Given the description of an element on the screen output the (x, y) to click on. 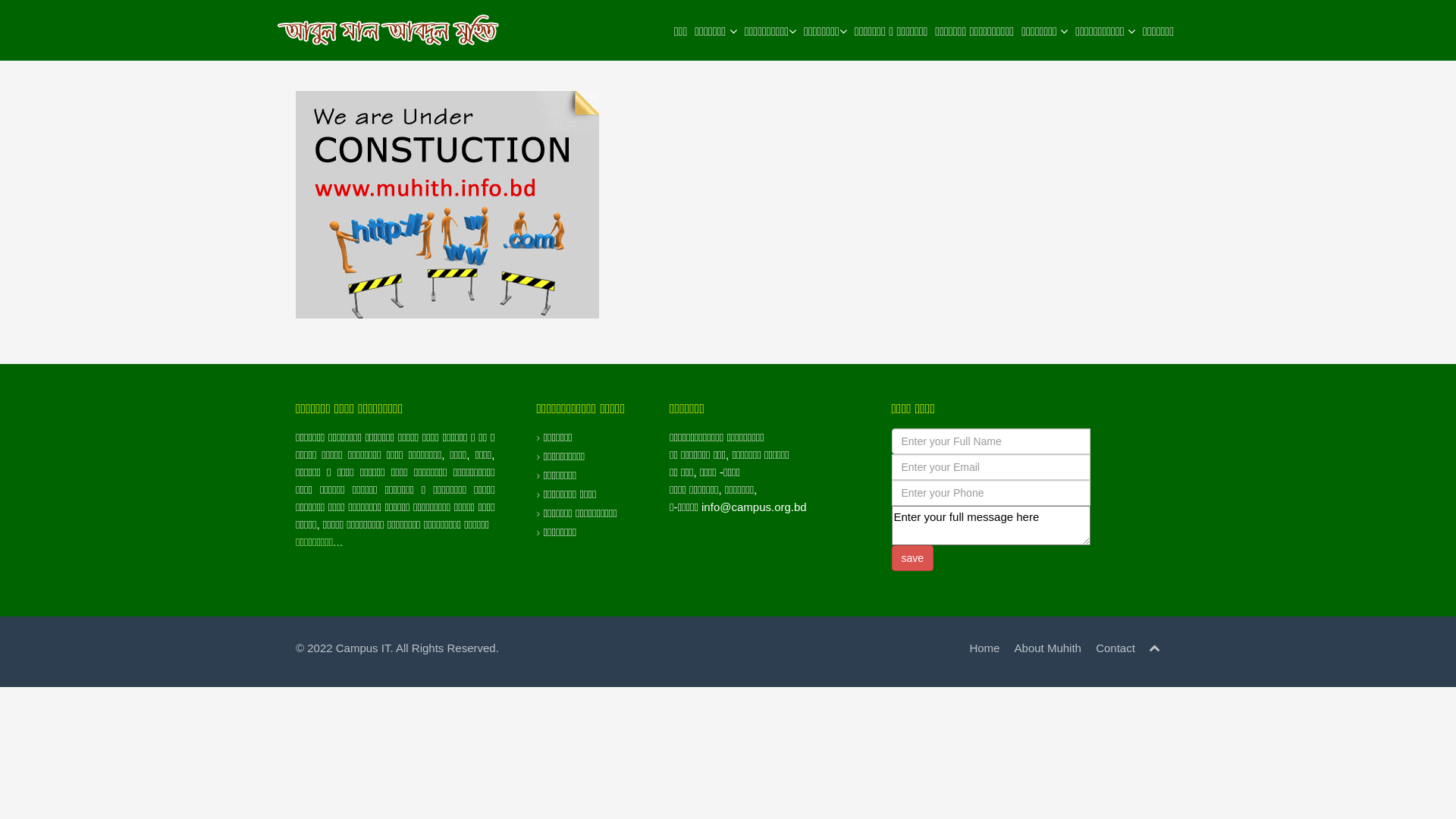
Contact Element type: text (1115, 647)
About Muhith Element type: text (1047, 647)
save Element type: text (912, 558)
Campus IT Element type: text (362, 647)
Home Element type: text (984, 647)
